Given the description of an element on the screen output the (x, y) to click on. 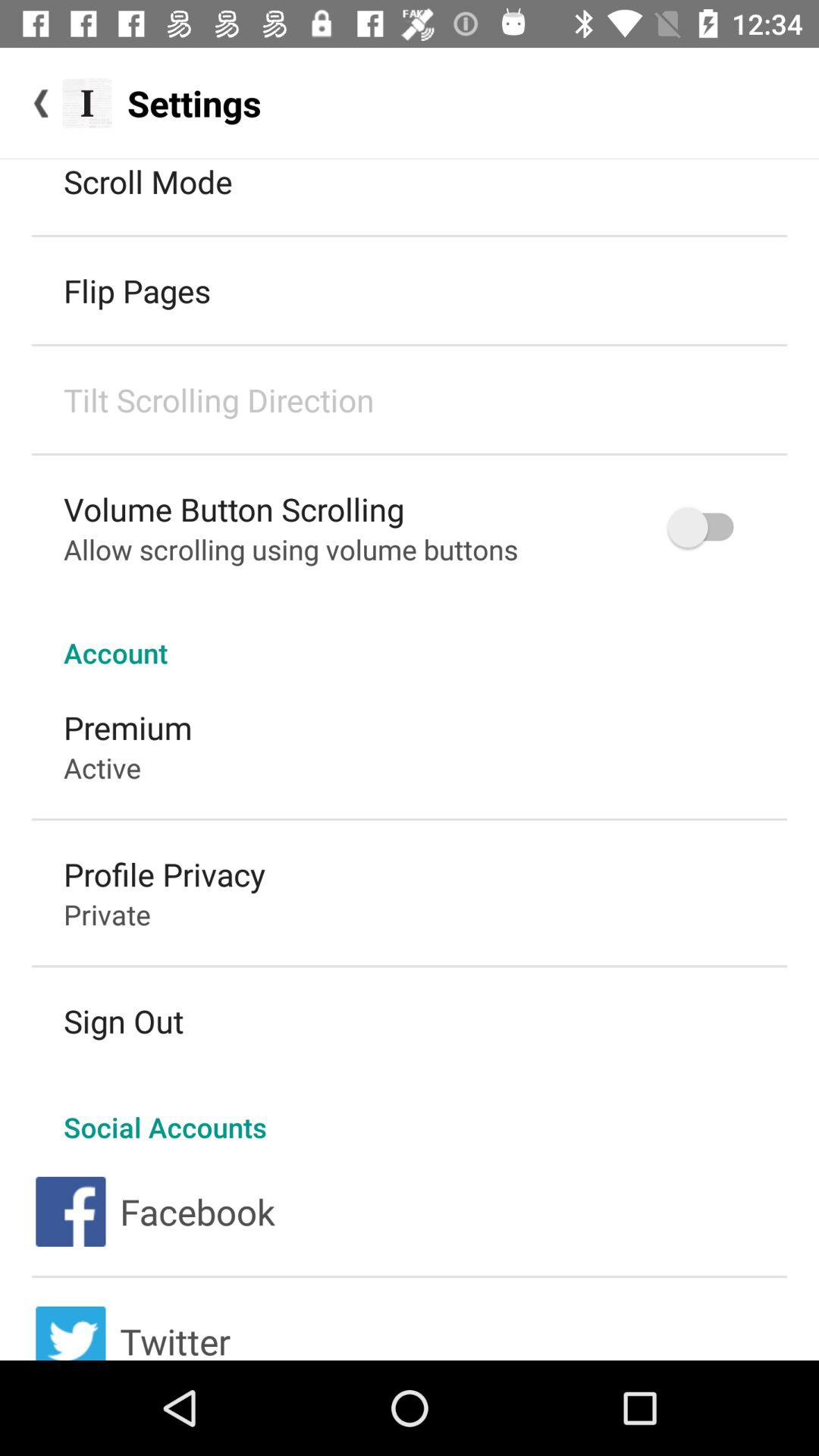
turn off the item below the active item (164, 873)
